Given the description of an element on the screen output the (x, y) to click on. 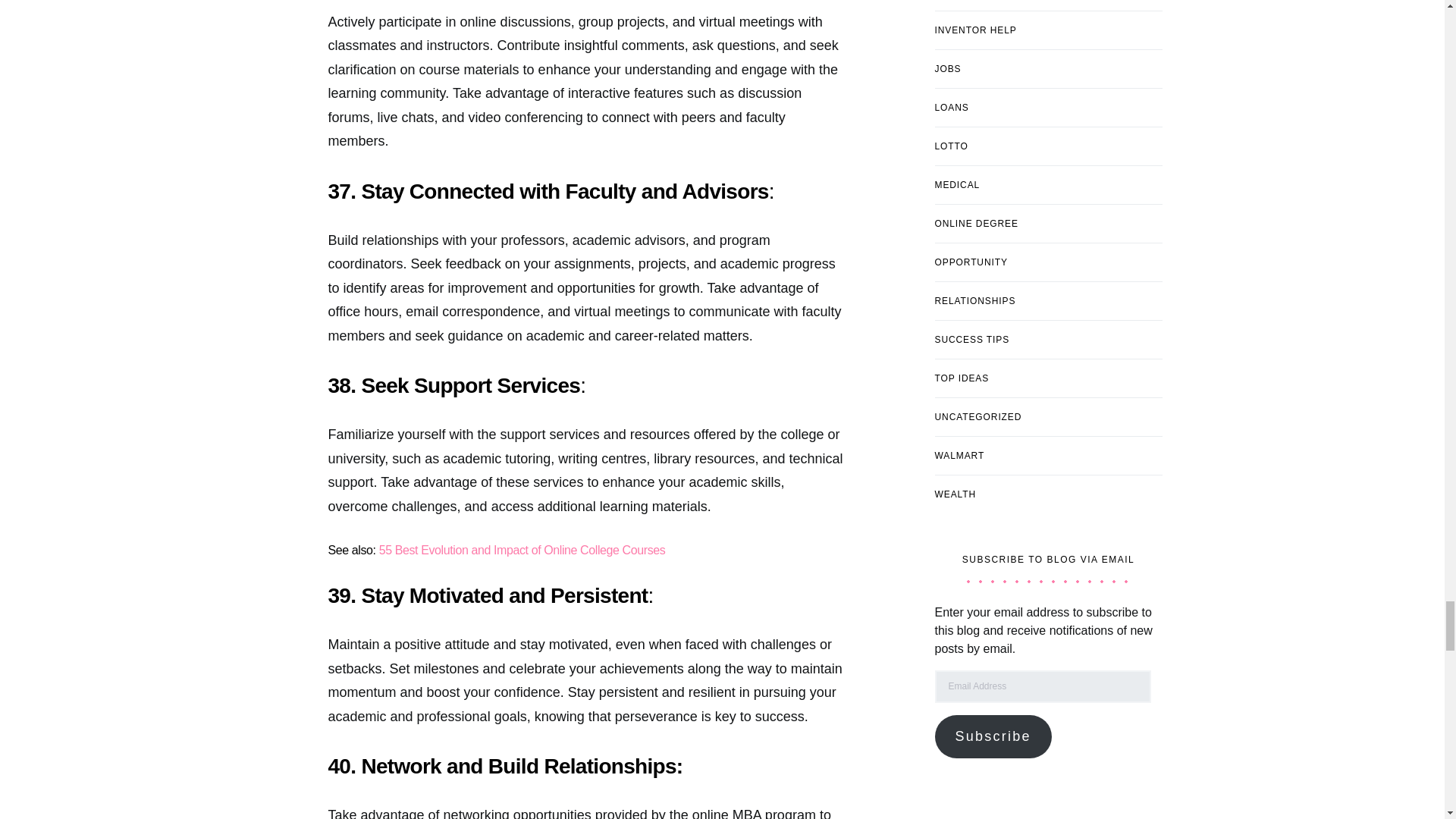
55 Best Evolution and Impact of Online College Courses (521, 549)
